Given the description of an element on the screen output the (x, y) to click on. 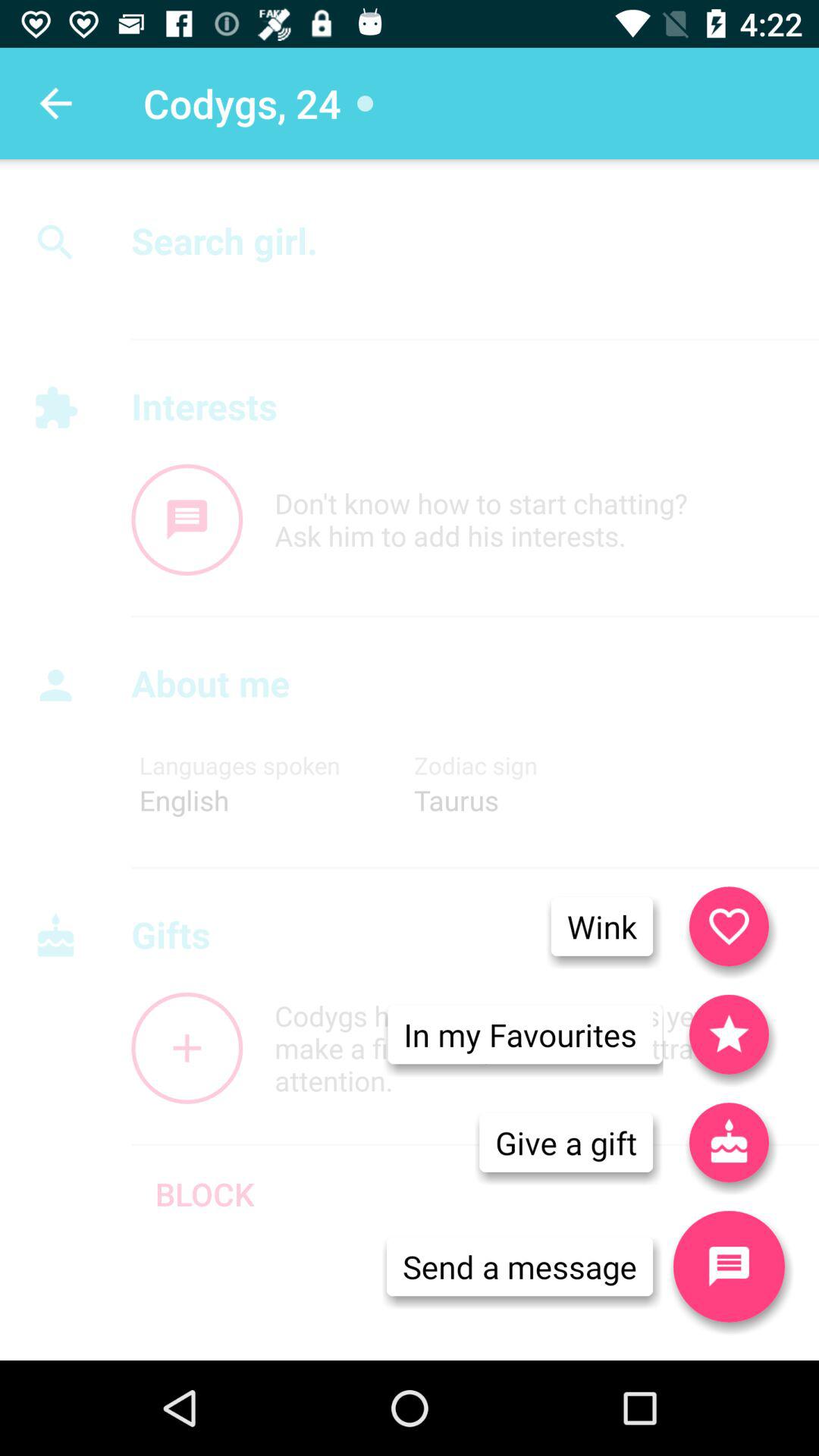
press the item next to the give a gift icon (729, 1266)
